Given the description of an element on the screen output the (x, y) to click on. 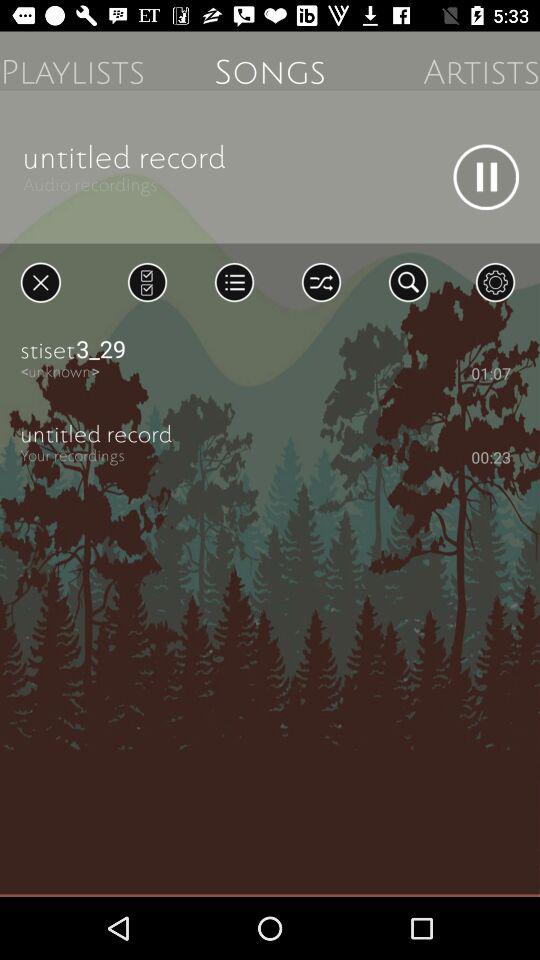
menu (234, 282)
